Given the description of an element on the screen output the (x, y) to click on. 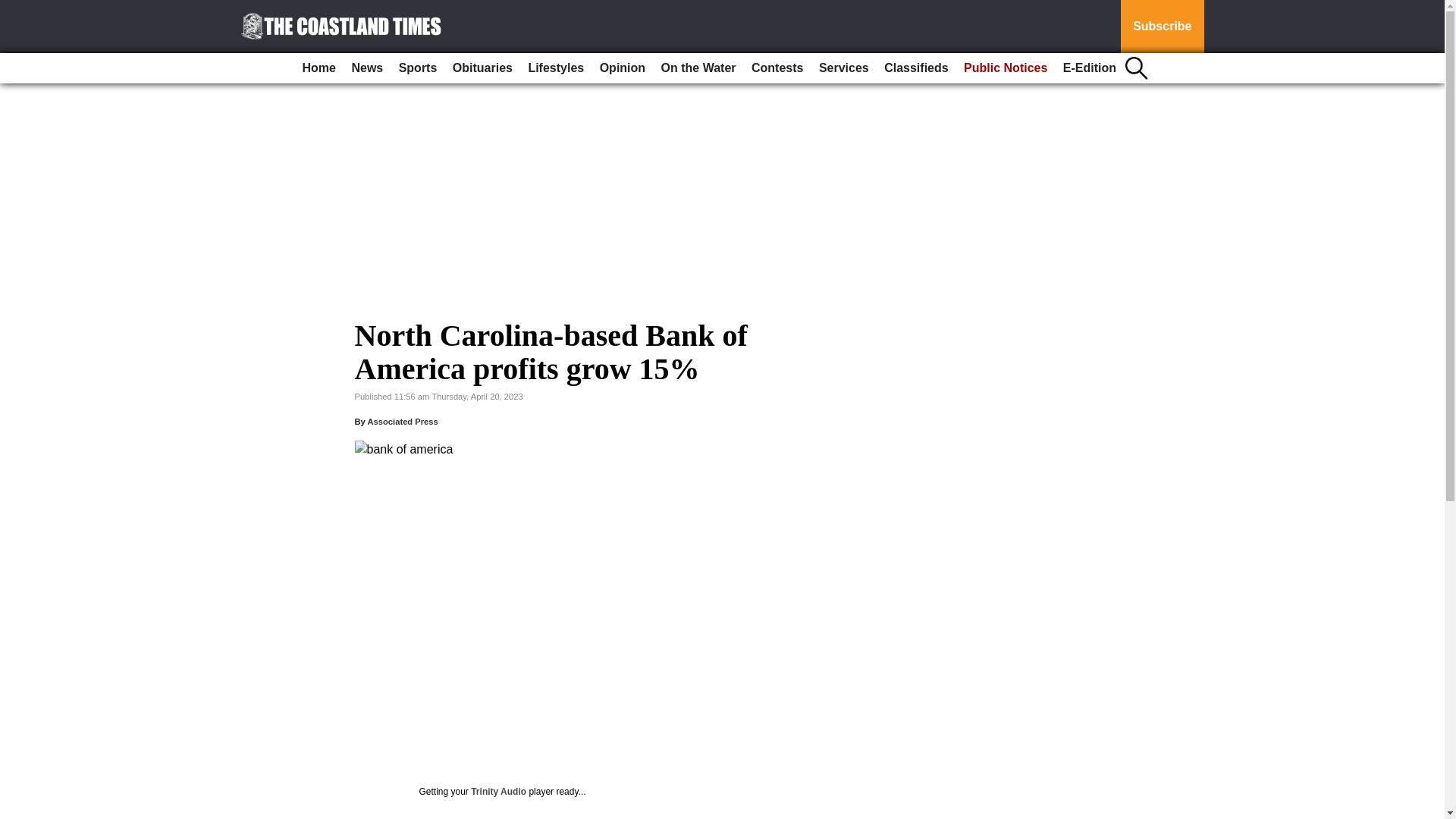
E-Edition (1089, 68)
Home (319, 68)
Trinity Audio (497, 791)
Obituaries (482, 68)
Public Notices (1005, 68)
Contests (777, 68)
Lifestyles (555, 68)
On the Water (698, 68)
Opinion (622, 68)
Classifieds (915, 68)
Subscribe (1162, 26)
Sports (418, 68)
News (366, 68)
Services (843, 68)
Go (13, 9)
